Given the description of an element on the screen output the (x, y) to click on. 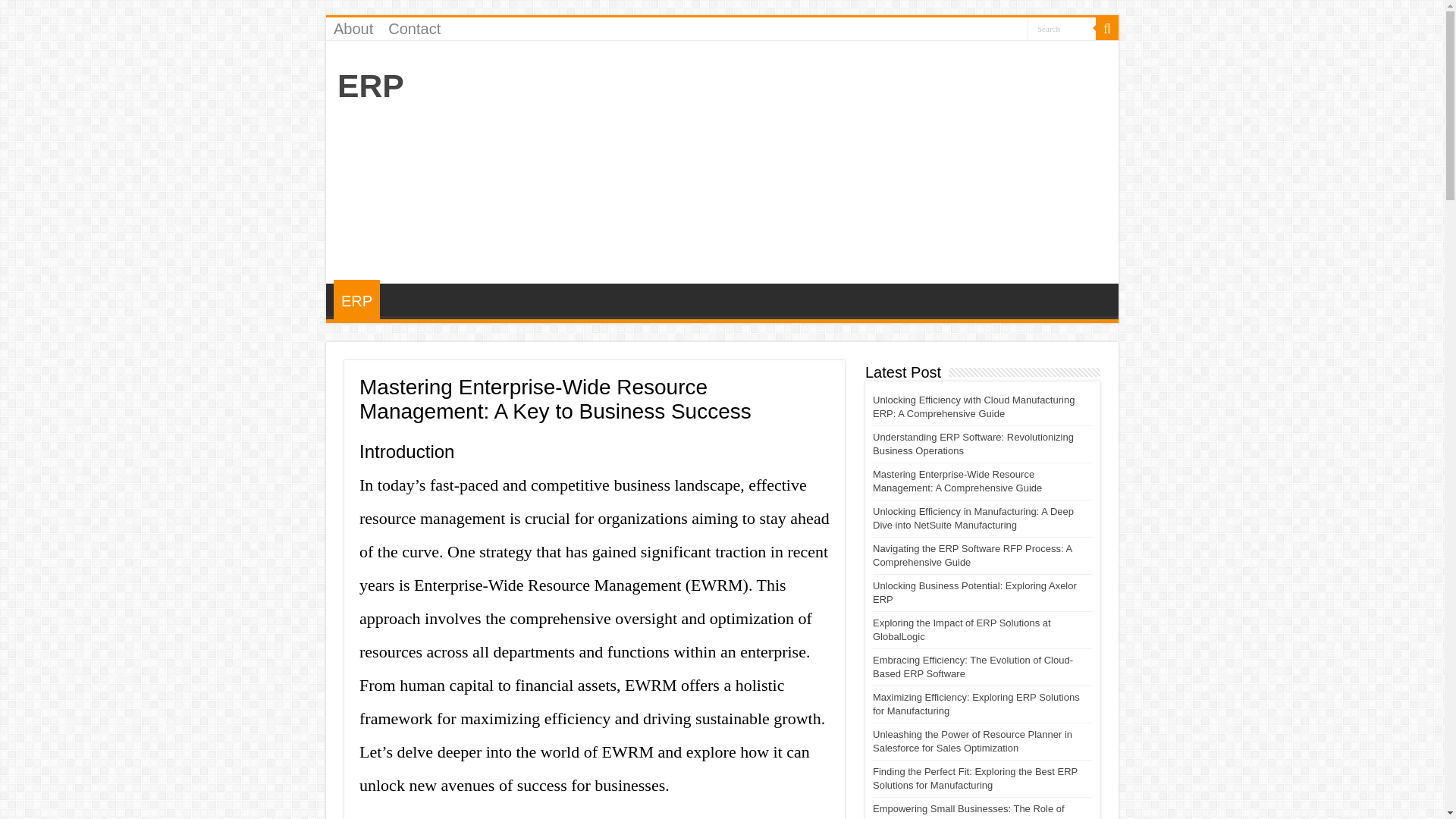
Search (1061, 28)
ERP (356, 299)
Search (1061, 28)
ERP (370, 85)
Advertisement (830, 162)
Exploring the Impact of ERP Solutions at GlobalLogic (961, 629)
Search (1061, 28)
